Given the description of an element on the screen output the (x, y) to click on. 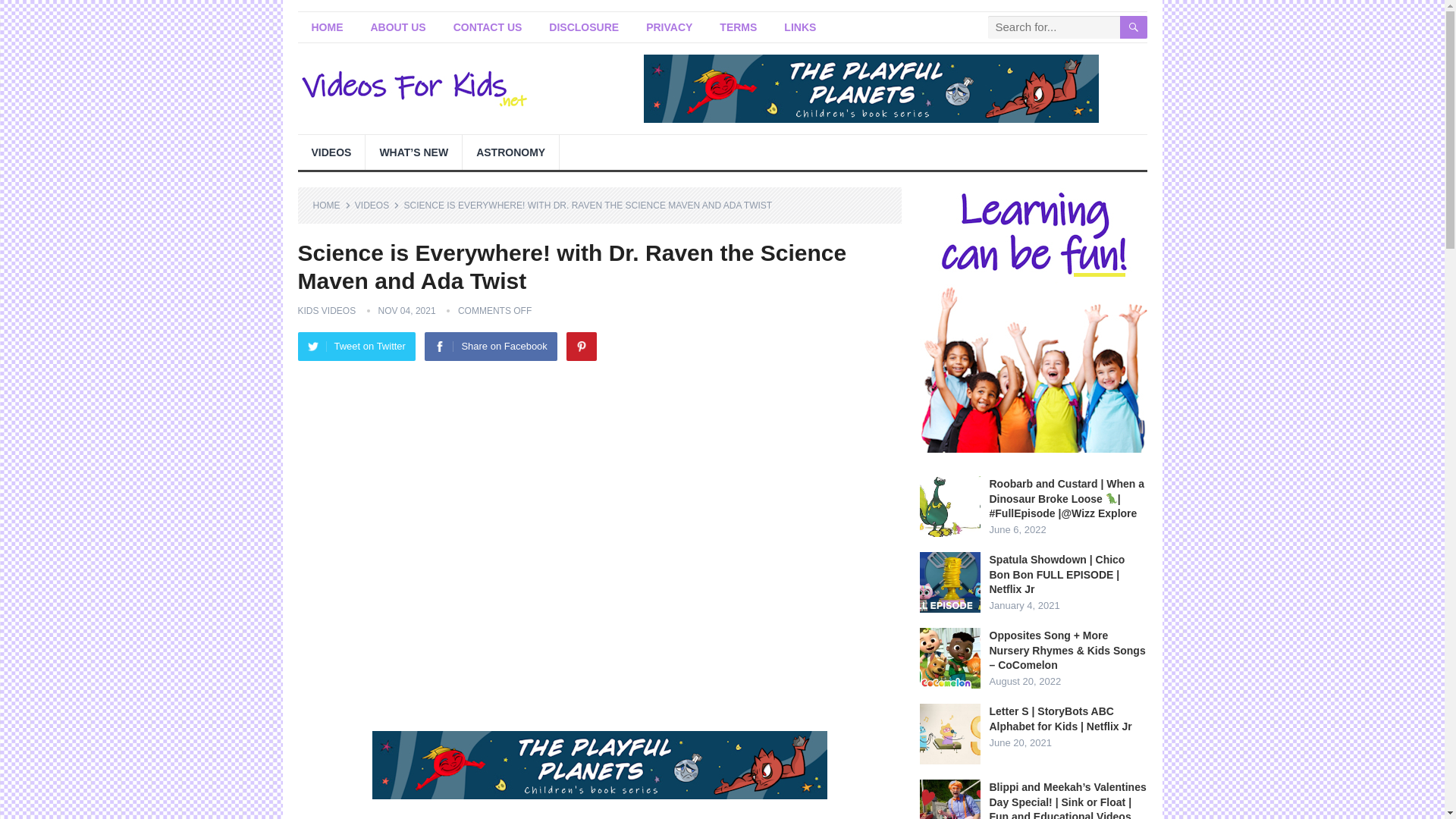
PRIVACY (668, 27)
HOME (326, 27)
Pinterest (581, 346)
CONTACT US (487, 27)
ASTRONOMY (511, 152)
VIDEOS (331, 152)
Share on Facebook (490, 346)
TERMS (738, 27)
VIDEOS (376, 204)
Tweet on Twitter (355, 346)
